Given the description of an element on the screen output the (x, y) to click on. 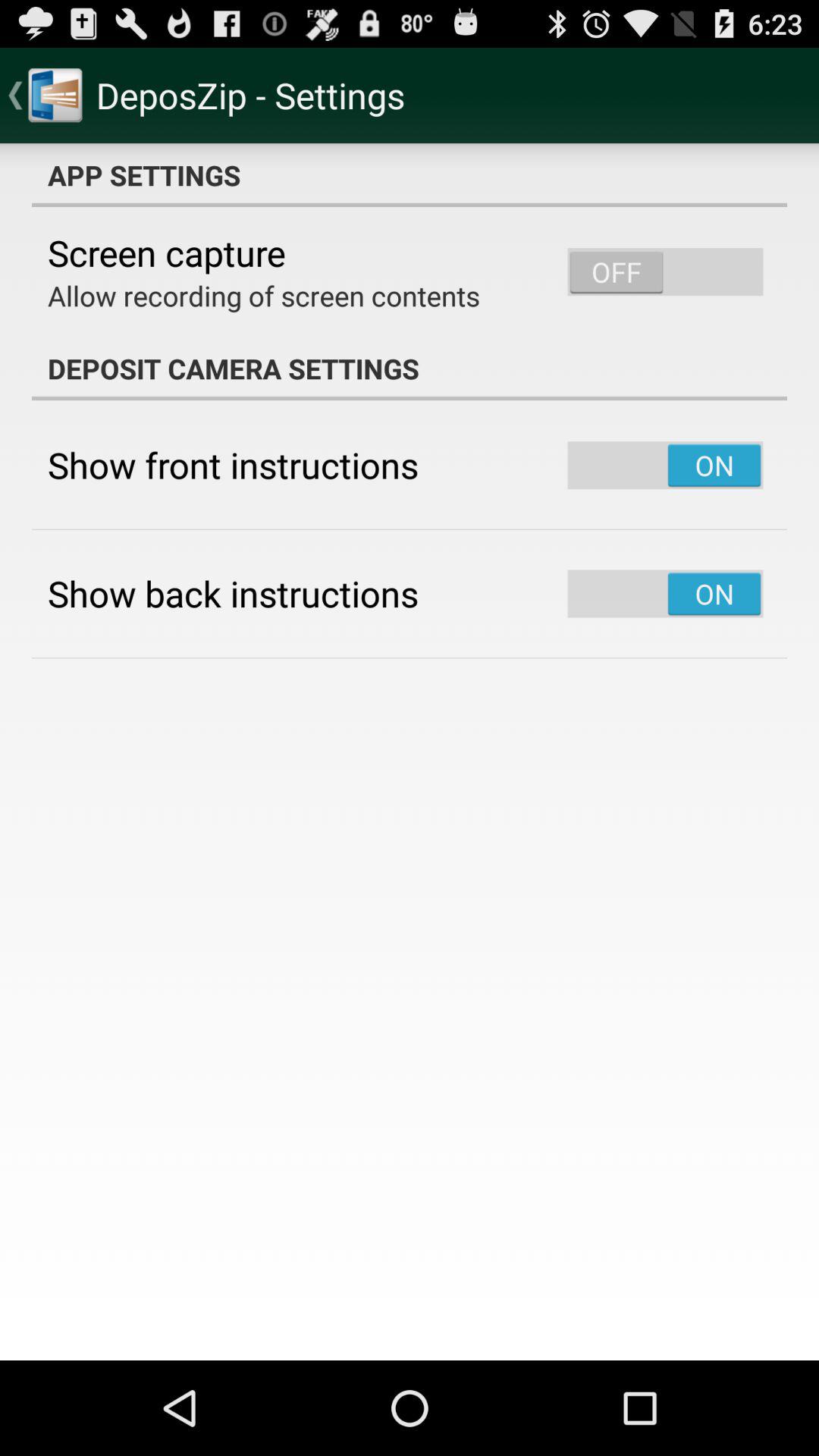
swipe until app settings (409, 175)
